Given the description of an element on the screen output the (x, y) to click on. 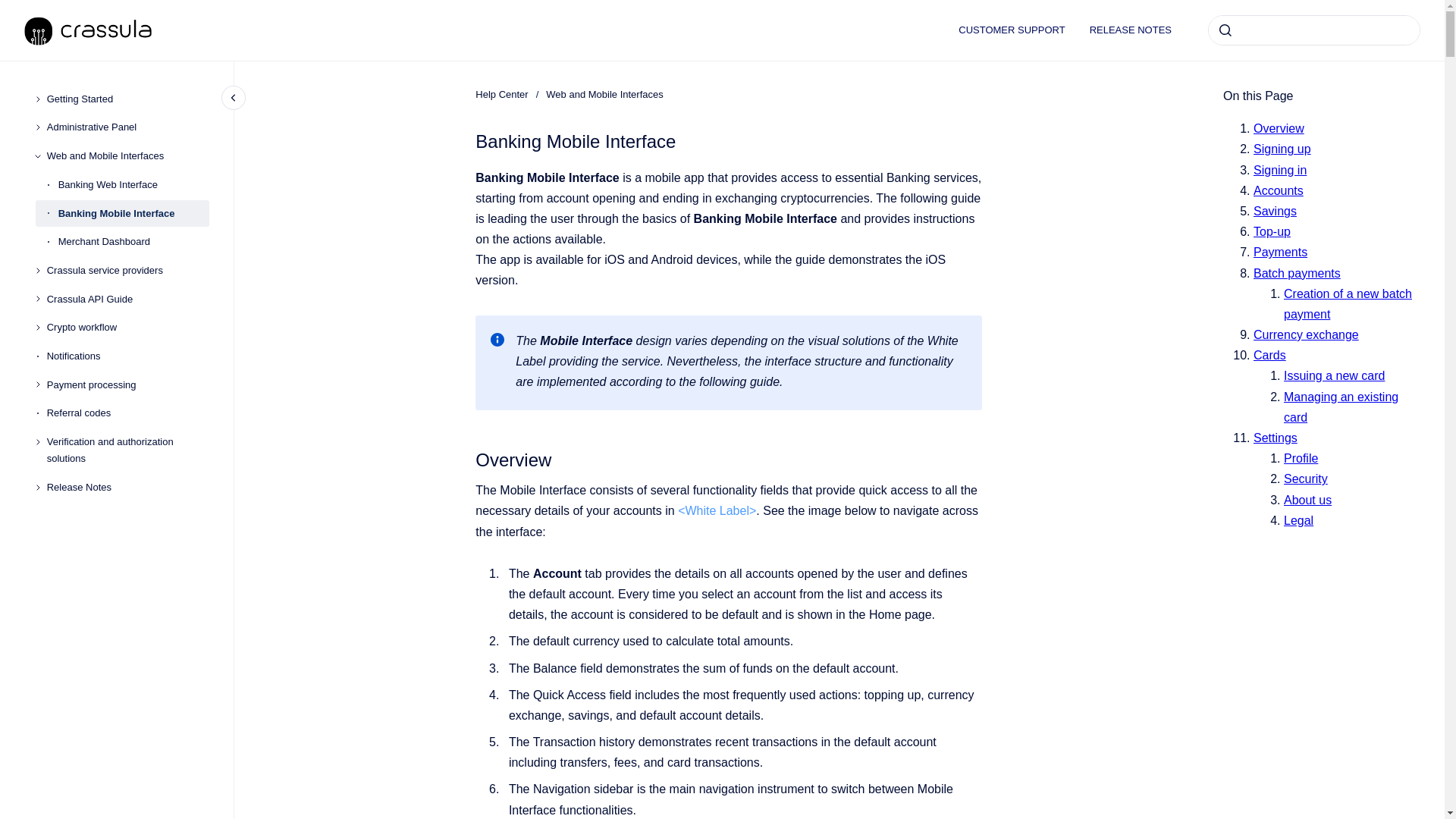
Copy to clipboard (468, 458)
Go to homepage (87, 30)
Notifications (127, 356)
RELEASE NOTES (1130, 29)
Banking Web Interface (133, 185)
Getting Started (127, 99)
Web and Mobile Interfaces (604, 94)
Banking Mobile Interface (133, 213)
Release Notes (127, 487)
Crassula service providers (127, 270)
Crassula API Guide (127, 298)
Verification and authorization solutions (127, 450)
Merchant Dashboard (133, 241)
Referral codes (127, 413)
Help Center (501, 94)
